Given the description of an element on the screen output the (x, y) to click on. 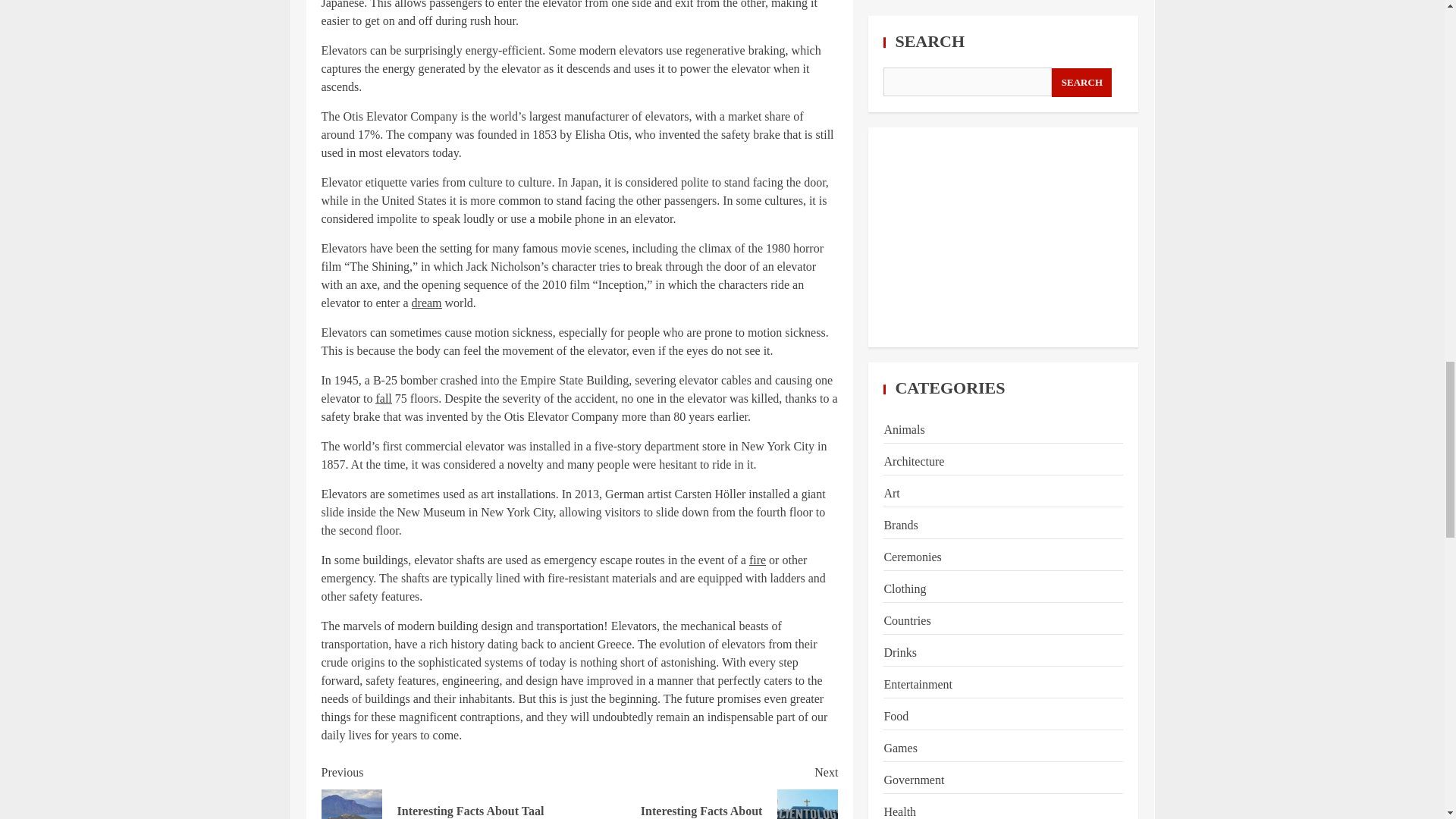
dream (450, 791)
fall (427, 302)
fire (383, 398)
